Given the description of an element on the screen output the (x, y) to click on. 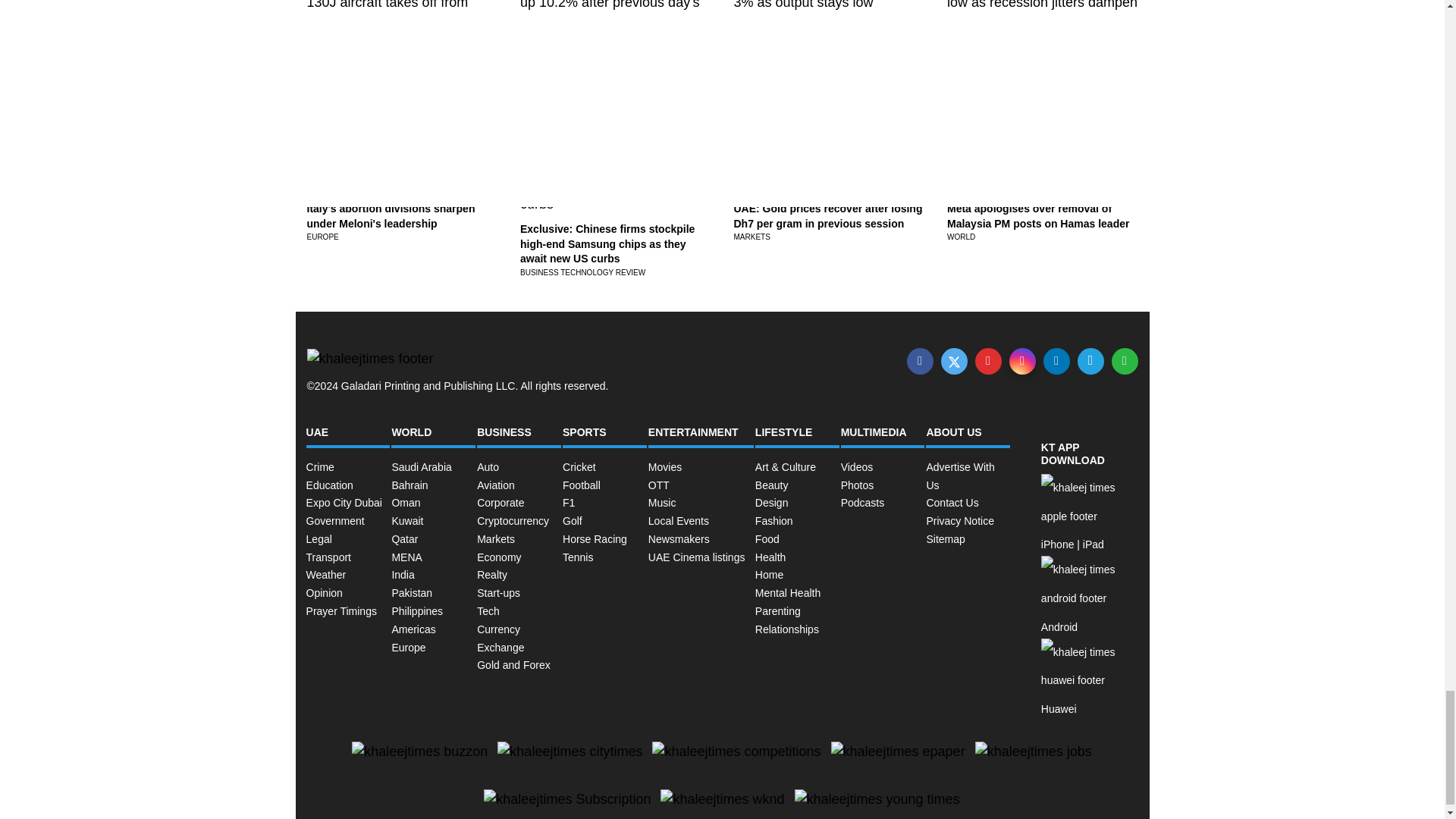
Italy's abortion divisions sharpen under Meloni's leadership (389, 216)
